Given the description of an element on the screen output the (x, y) to click on. 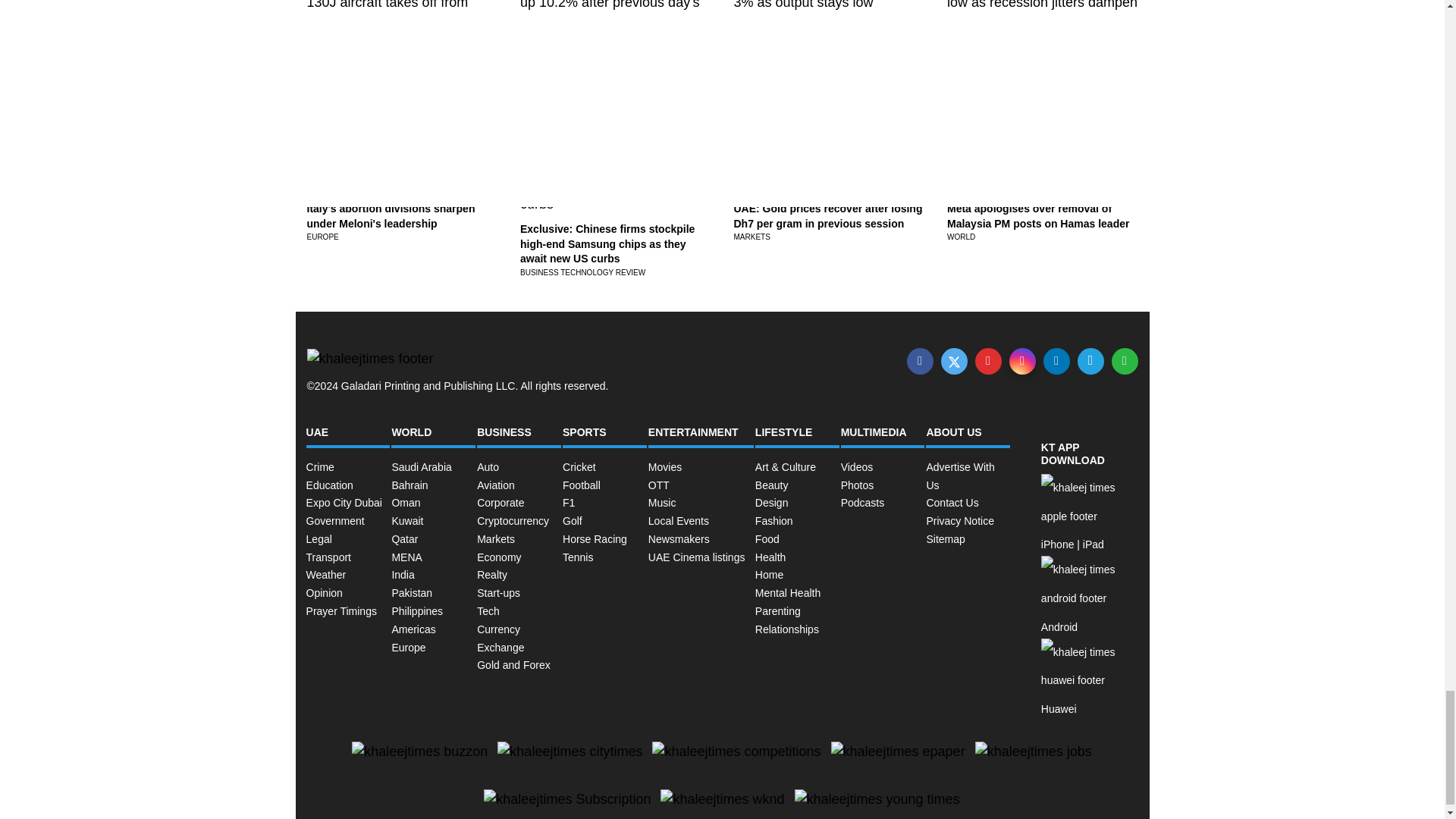
Italy's abortion divisions sharpen under Meloni's leadership (389, 216)
